Given the description of an element on the screen output the (x, y) to click on. 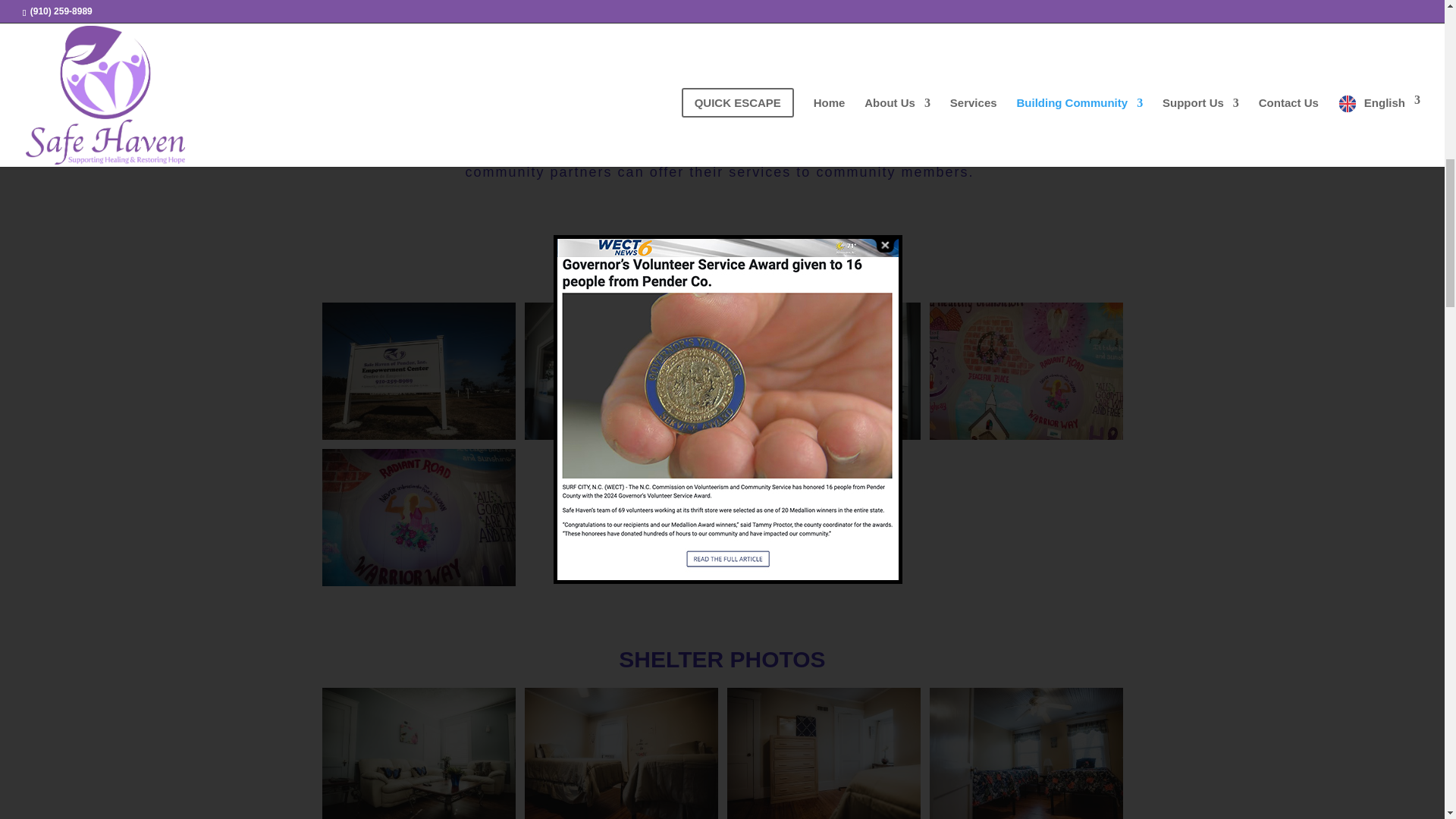
EC 5 (1026, 435)
empowerment-center-bedroom (620, 816)
empowerment-center-den (418, 816)
empowerment-center-sign (418, 435)
empowerment-center-room-3 (1026, 816)
empowerment-center-mural (418, 582)
empowerment-center-room-2 (823, 816)
empowerment-center-conference-room (823, 435)
we-welcome-all (620, 435)
